Given the description of an element on the screen output the (x, y) to click on. 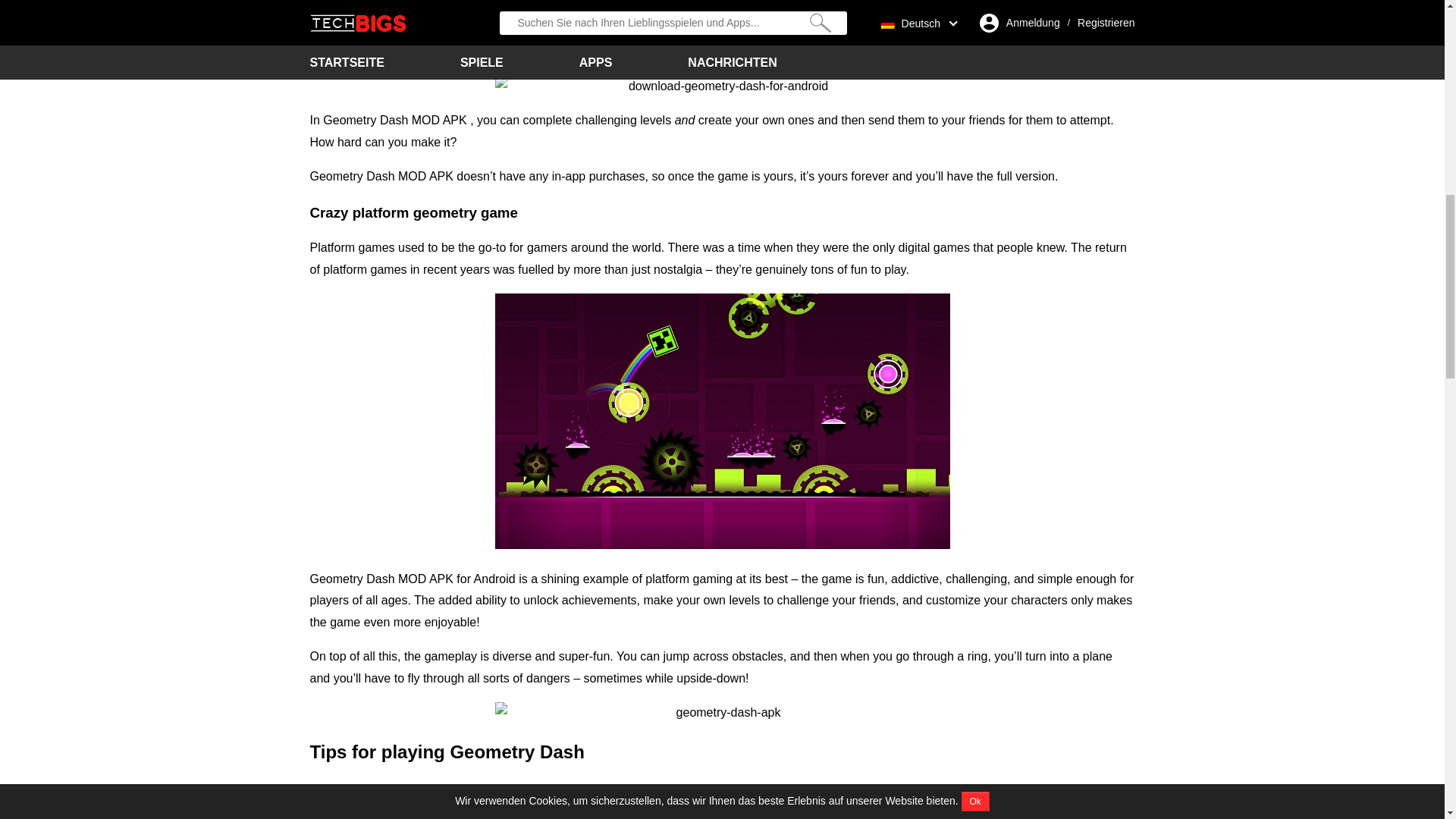
download-geometry-dash-for-android (722, 86)
geometry-dash-mod-apk (722, 420)
geometry-dash-apk (722, 712)
